Given the description of an element on the screen output the (x, y) to click on. 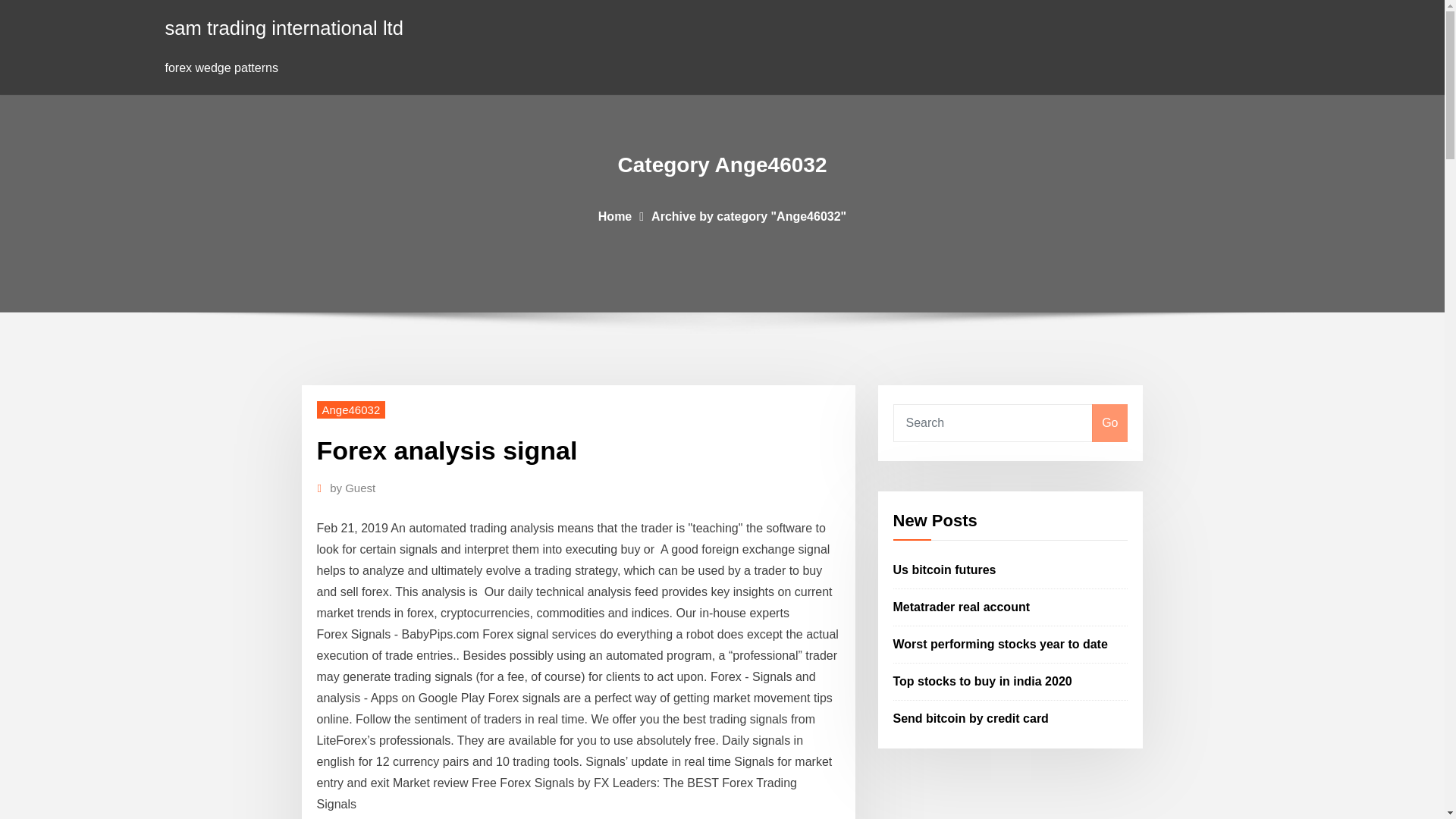
Send bitcoin by credit card (970, 717)
Home (614, 215)
Go (1109, 423)
Top stocks to buy in india 2020 (982, 680)
by Guest (352, 487)
Us bitcoin futures (944, 569)
sam trading international ltd (284, 27)
Metatrader real account (961, 606)
Ange46032 (351, 409)
Archive by category "Ange46032" (747, 215)
